Given the description of an element on the screen output the (x, y) to click on. 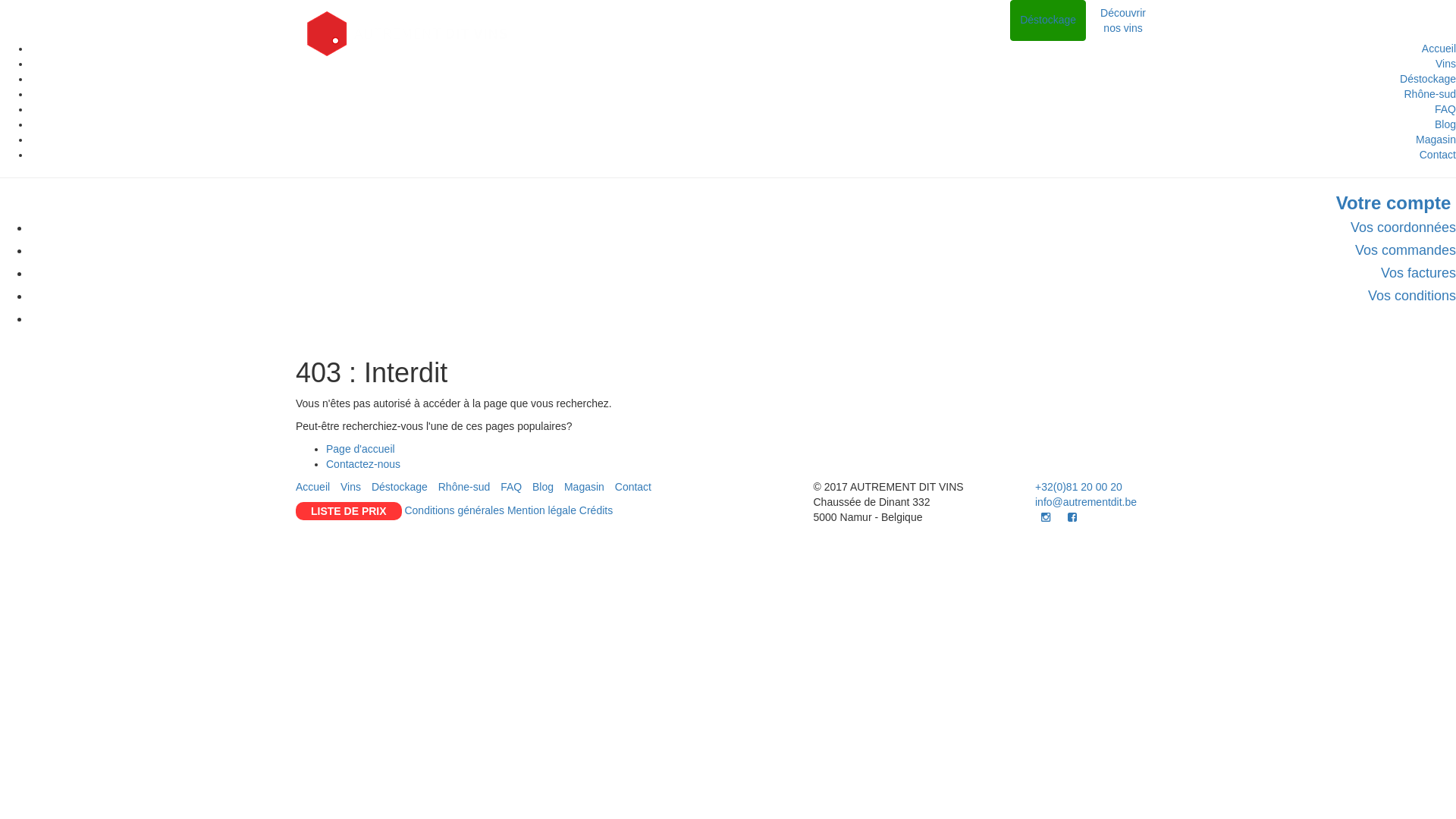
Contactez-nous Element type: text (363, 464)
  Element type: text (1070, 517)
Page d'accueil Element type: text (360, 448)
FAQ Element type: text (510, 486)
Accueil Element type: text (312, 486)
Contact Element type: text (633, 486)
  Element type: text (1036, 517)
+32(0)81 20 00 20 Element type: text (1078, 486)
    Element type: text (1057, 517)
Vins Element type: text (350, 486)
AUTREMENT DIT VINS Element type: hover (407, 33)
Magasin Element type: text (584, 486)
fb:like Facebook Social Plugin Element type: hover (1094, 535)
LISTE DE PRIX Element type: text (348, 511)
Blog Element type: text (542, 486)
info@autrementdit.be Element type: text (1085, 501)
